Given the description of an element on the screen output the (x, y) to click on. 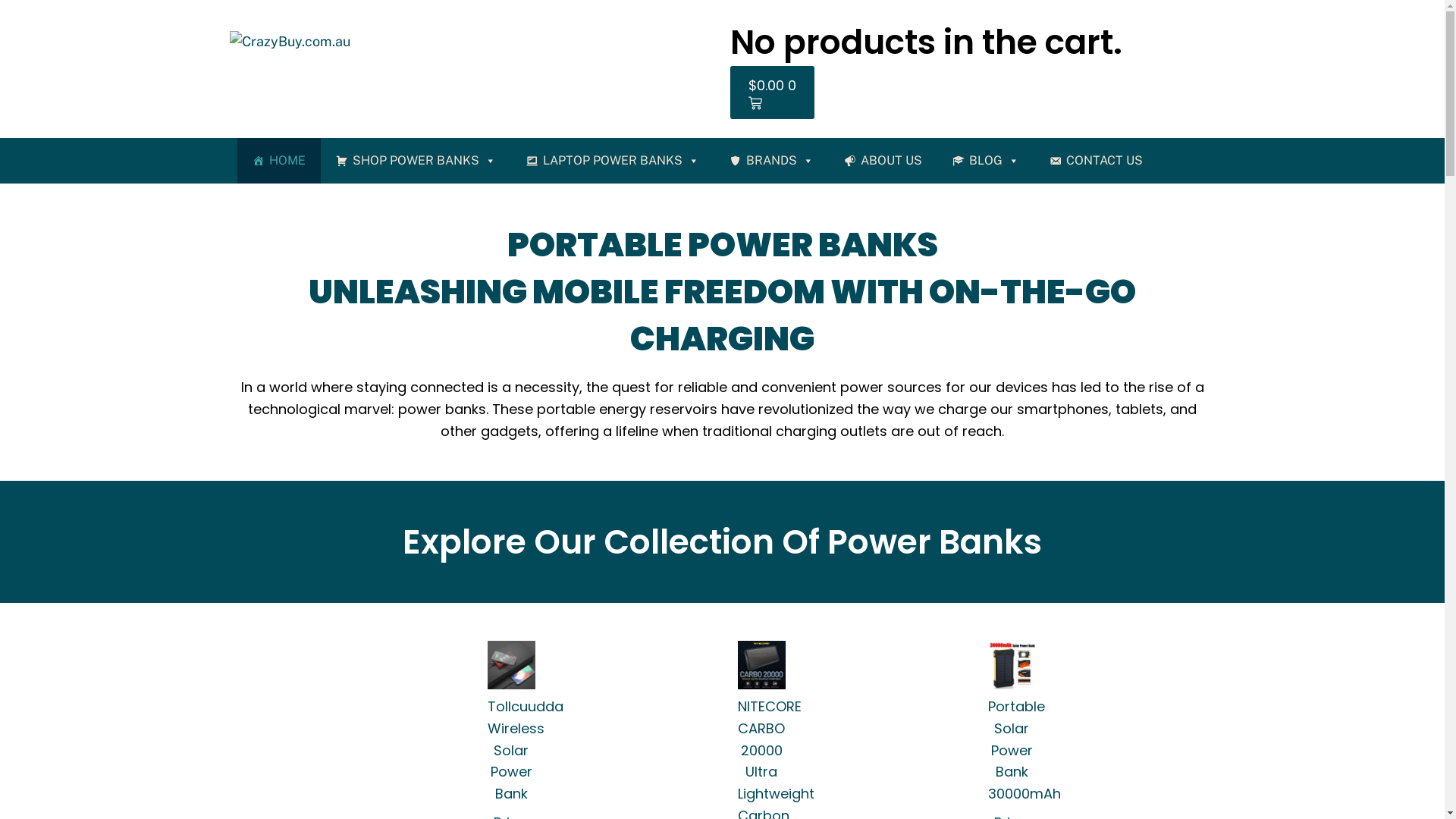
CONTACT US Element type: text (1095, 160)
LAPTOP POWER BANKS Element type: text (612, 160)
SHOP POWER BANKS Element type: text (415, 160)
ABOUT US Element type: text (882, 160)
BRANDS Element type: text (771, 160)
BLOG Element type: text (985, 160)
$0.00 0 Element type: text (771, 92)
HOME Element type: text (278, 160)
